Given the description of an element on the screen output the (x, y) to click on. 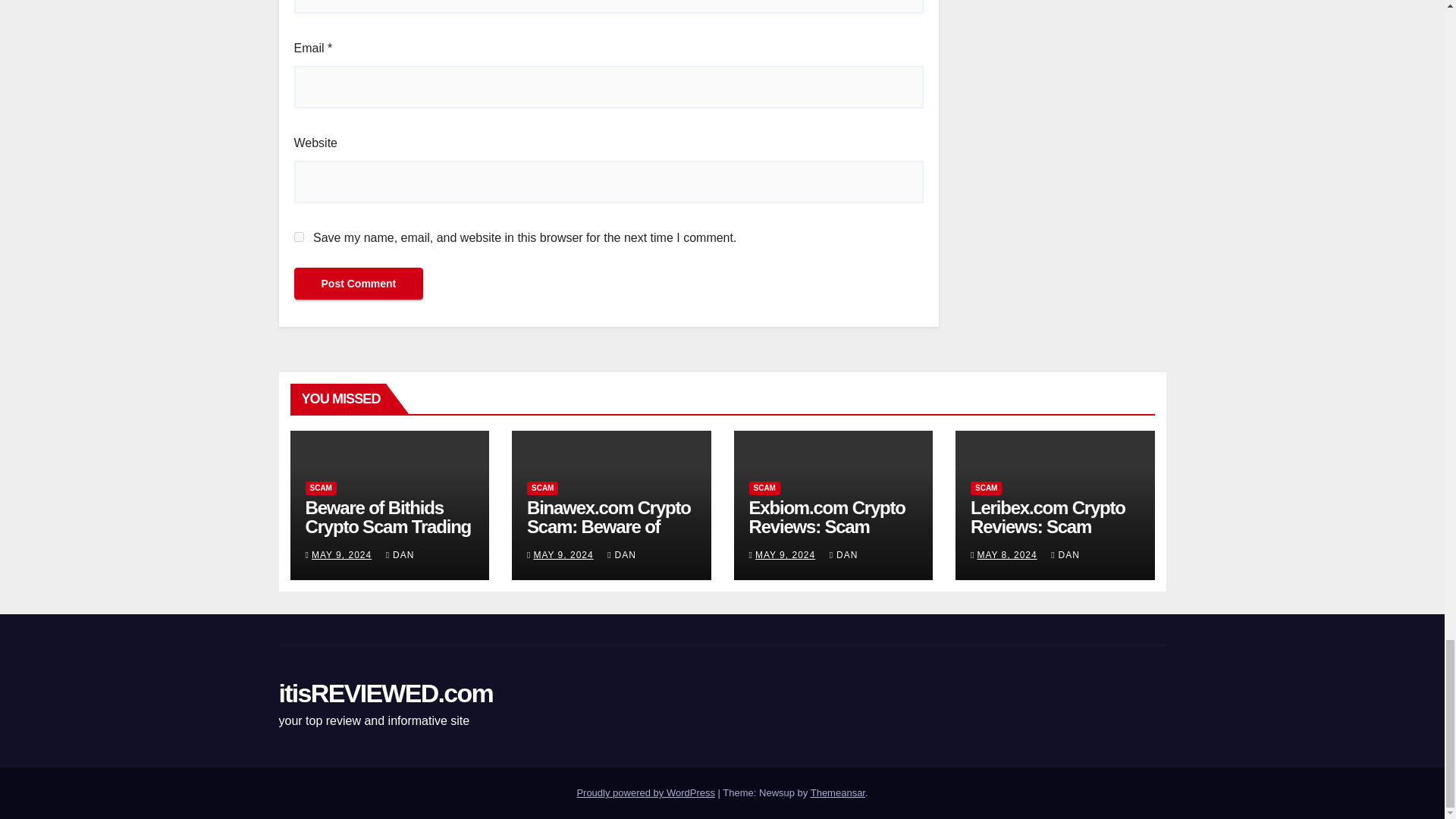
yes (299, 236)
Post Comment (358, 283)
